Given the description of an element on the screen output the (x, y) to click on. 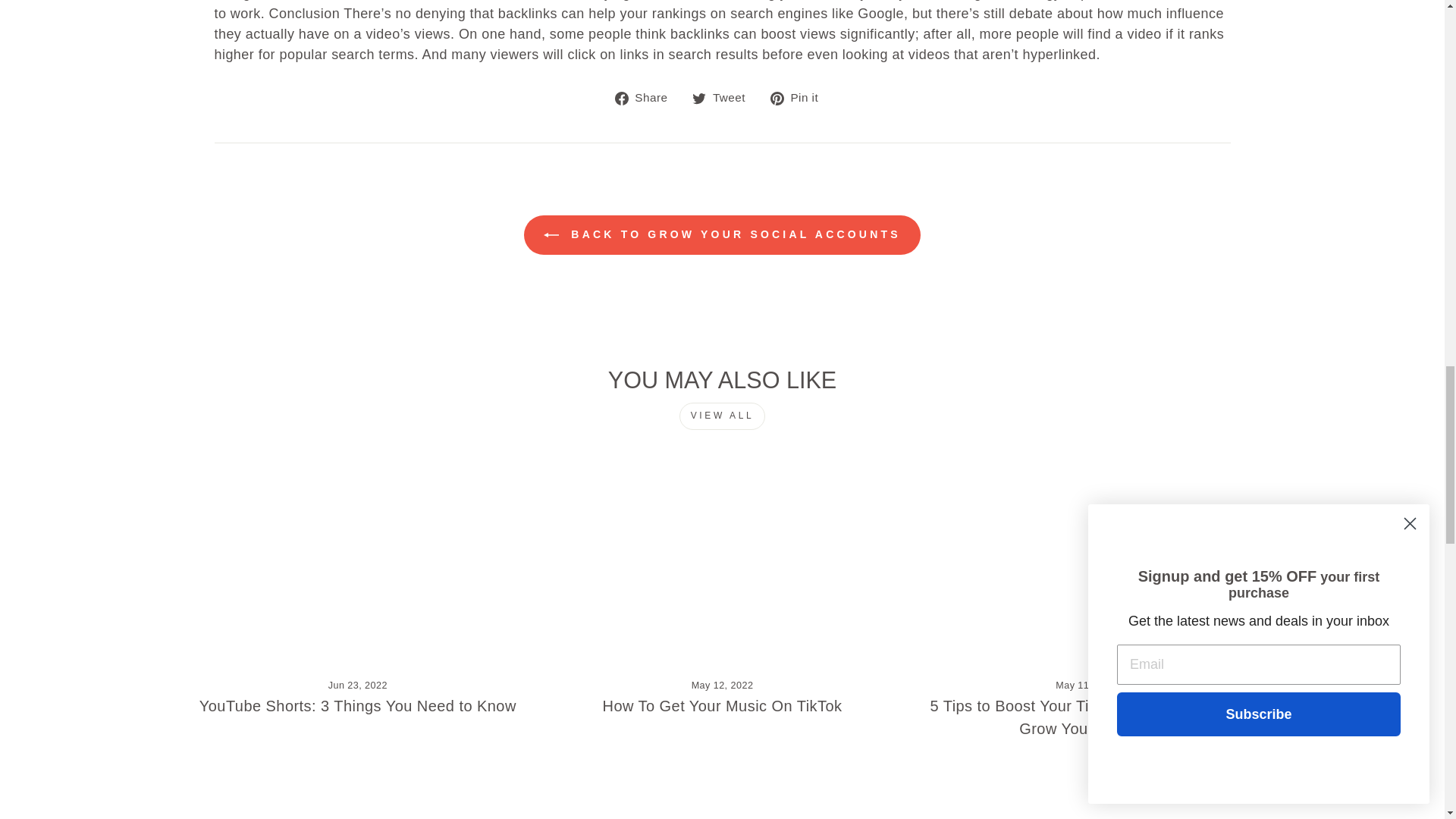
ICON-LEFT-ARROW (551, 234)
twitter (699, 98)
Pin on Pinterest (799, 97)
Share on Facebook (646, 97)
Tweet on Twitter (725, 97)
